Given the description of an element on the screen output the (x, y) to click on. 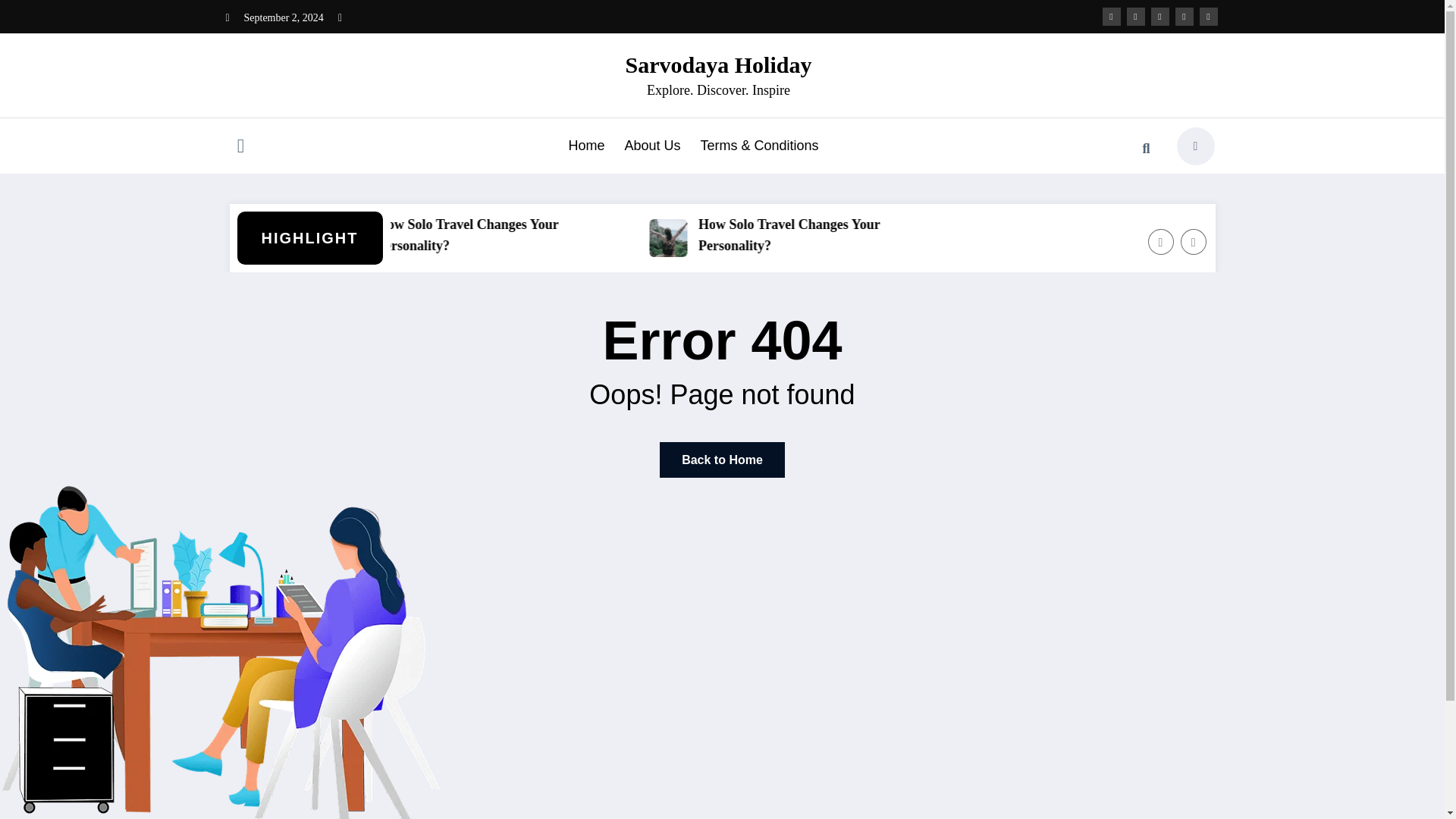
youtube (1208, 16)
facebook-f (1111, 16)
Back to Home (721, 459)
How Solo Travel Changes Your Personality? (876, 235)
fa-brands fa-x-twitter (1135, 16)
How Solo Travel Changes Your Personality? (554, 235)
Search (1145, 148)
Home (585, 145)
Toggle Icon (239, 147)
Sarvodaya Holiday (719, 64)
